Given the description of an element on the screen output the (x, y) to click on. 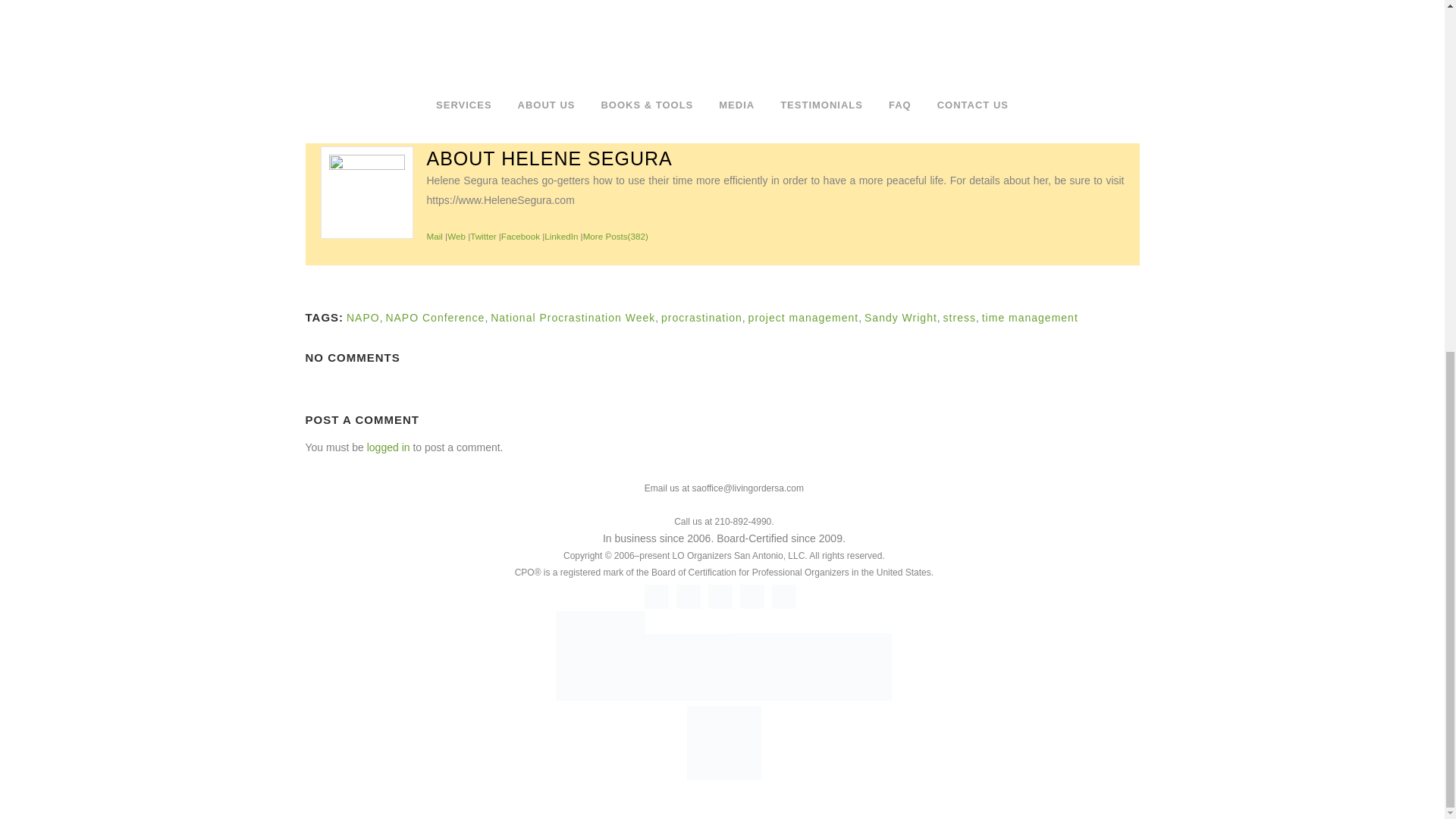
Helene Segura On Twitter (483, 235)
Follow Us on Facebook (656, 596)
More Posts By Helene Segura (615, 235)
Send Helene Segura Mail (434, 235)
Twitter (483, 235)
Facebook (520, 235)
Follow Us on LinkedIn (719, 596)
Follow Us on YouTube (751, 596)
Helene Segura On Facebook (520, 235)
Mail (434, 235)
Helene Segura (586, 158)
Follow Us on Twitter (688, 596)
HELENE SEGURA (586, 158)
Helene Segura On LinkedIn (561, 235)
Helene Segura On The Web (455, 235)
